Given the description of an element on the screen output the (x, y) to click on. 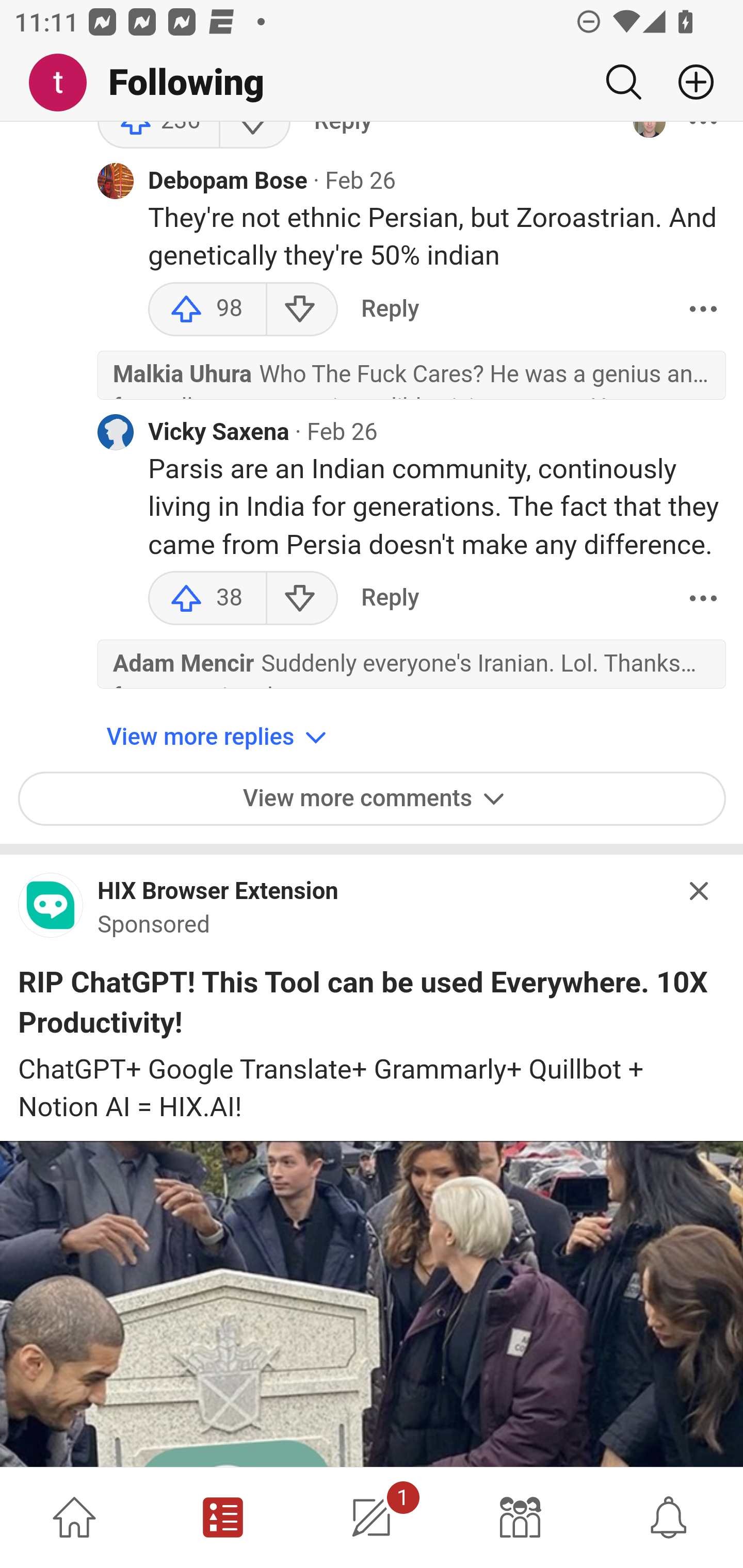
Me (64, 83)
Search (623, 82)
Add (688, 82)
Profile photo for Debopam Bose (115, 181)
Debopam Bose (227, 181)
98 upvotes (207, 310)
Downvote (302, 310)
Reply (389, 310)
More (703, 310)
Profile photo for Vicky Saxena (115, 432)
Vicky Saxena (218, 433)
38 upvotes (207, 598)
Downvote (302, 598)
Reply (389, 598)
More (703, 598)
View more replies (219, 737)
View more comments (372, 799)
Hide (699, 891)
main-qimg-a26aff9df7f072be8b0645a7a8a9dc4b (50, 911)
HIX Browser Extension (218, 892)
1 (371, 1517)
